Given the description of an element on the screen output the (x, y) to click on. 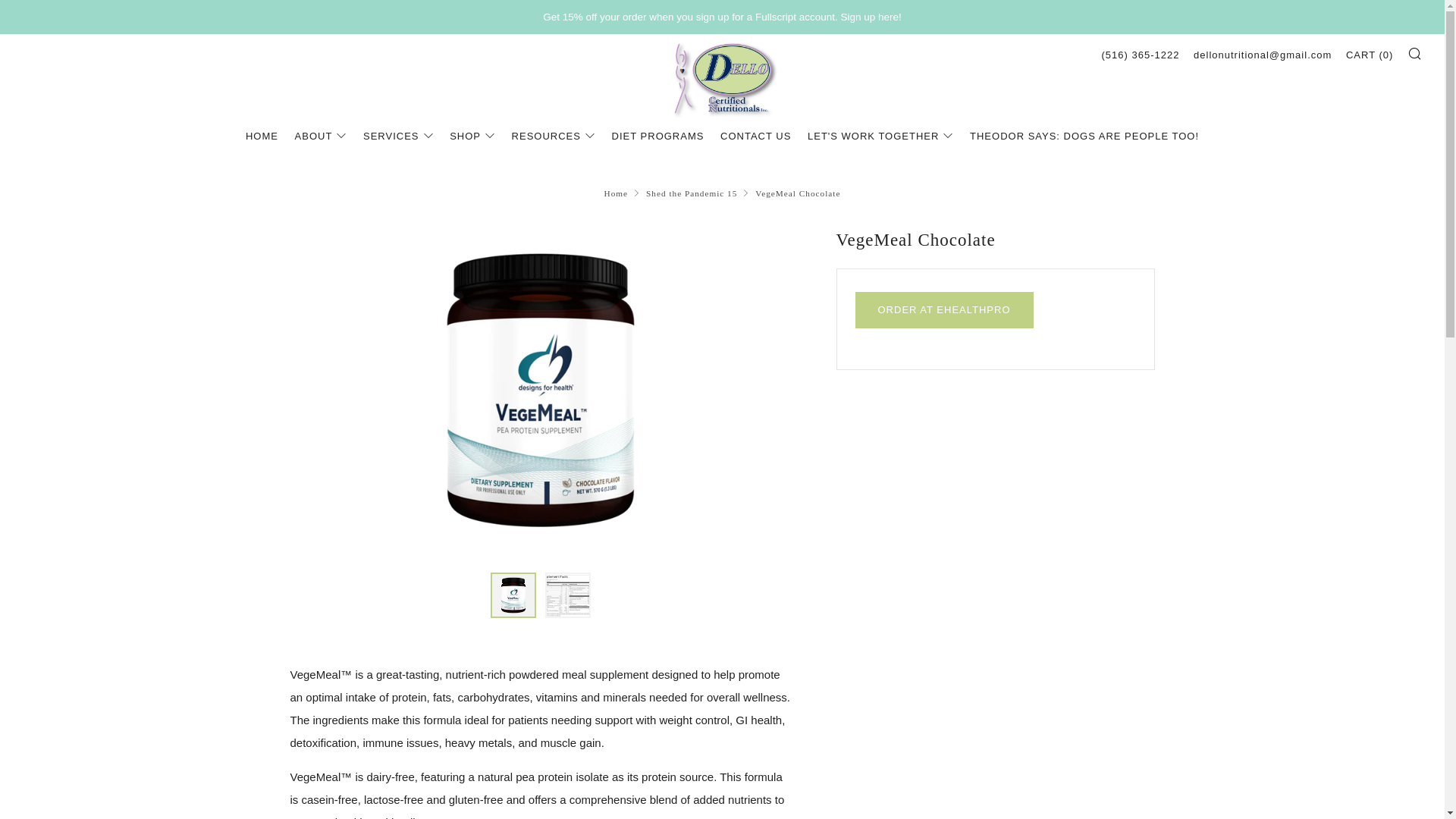
Home (616, 193)
